Given the description of an element on the screen output the (x, y) to click on. 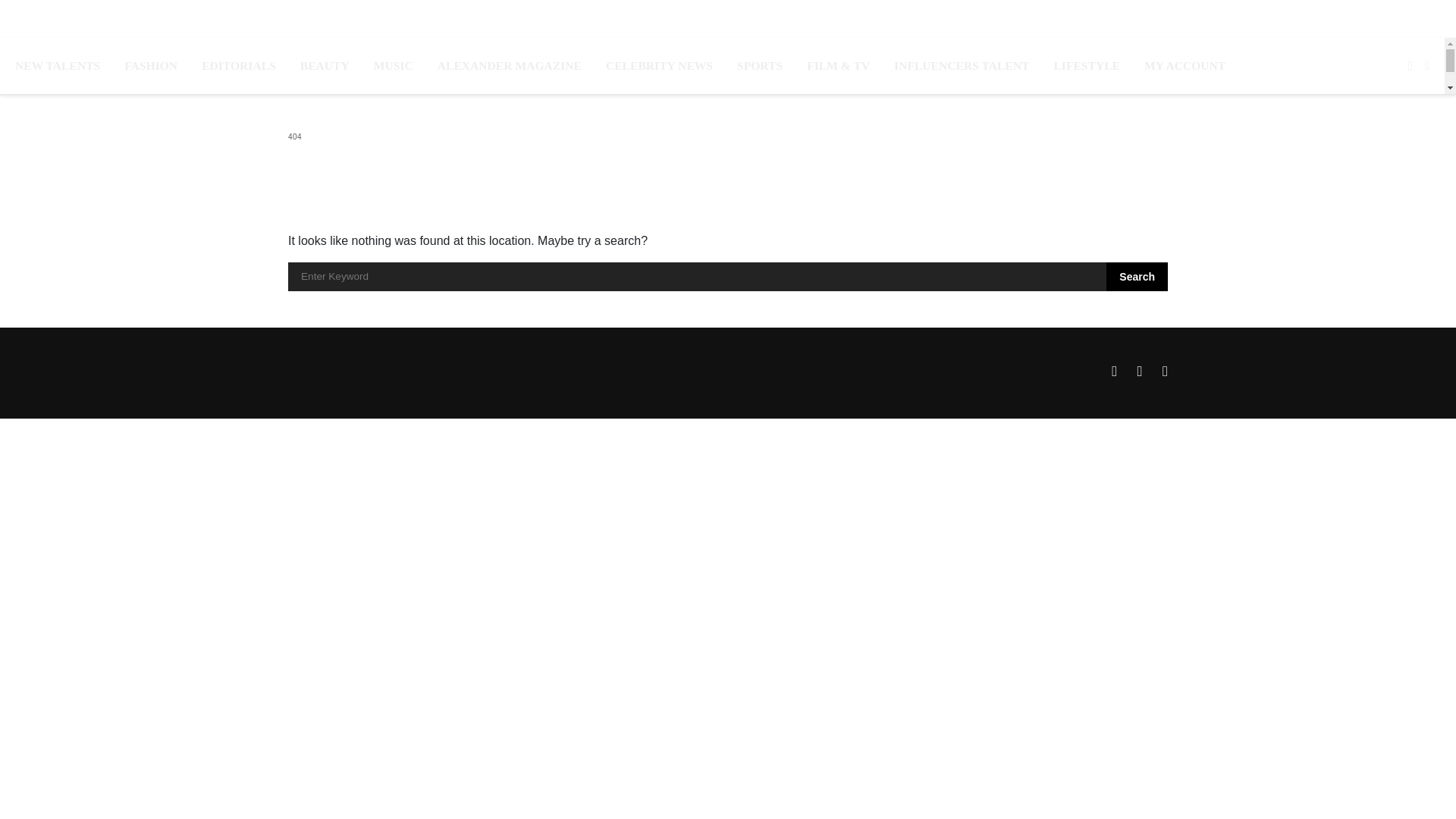
CELEBRITY NEWS (659, 65)
NEW TALENTS (57, 65)
INFLUENCERS TALENT (961, 65)
EDITORIALS (239, 65)
LIFESTYLE (1085, 65)
MY ACCOUNT (1184, 65)
FASHION (150, 65)
Search (1136, 276)
BEAUTY (324, 65)
ALEXANDER MAGAZINE (509, 65)
